Given the description of an element on the screen output the (x, y) to click on. 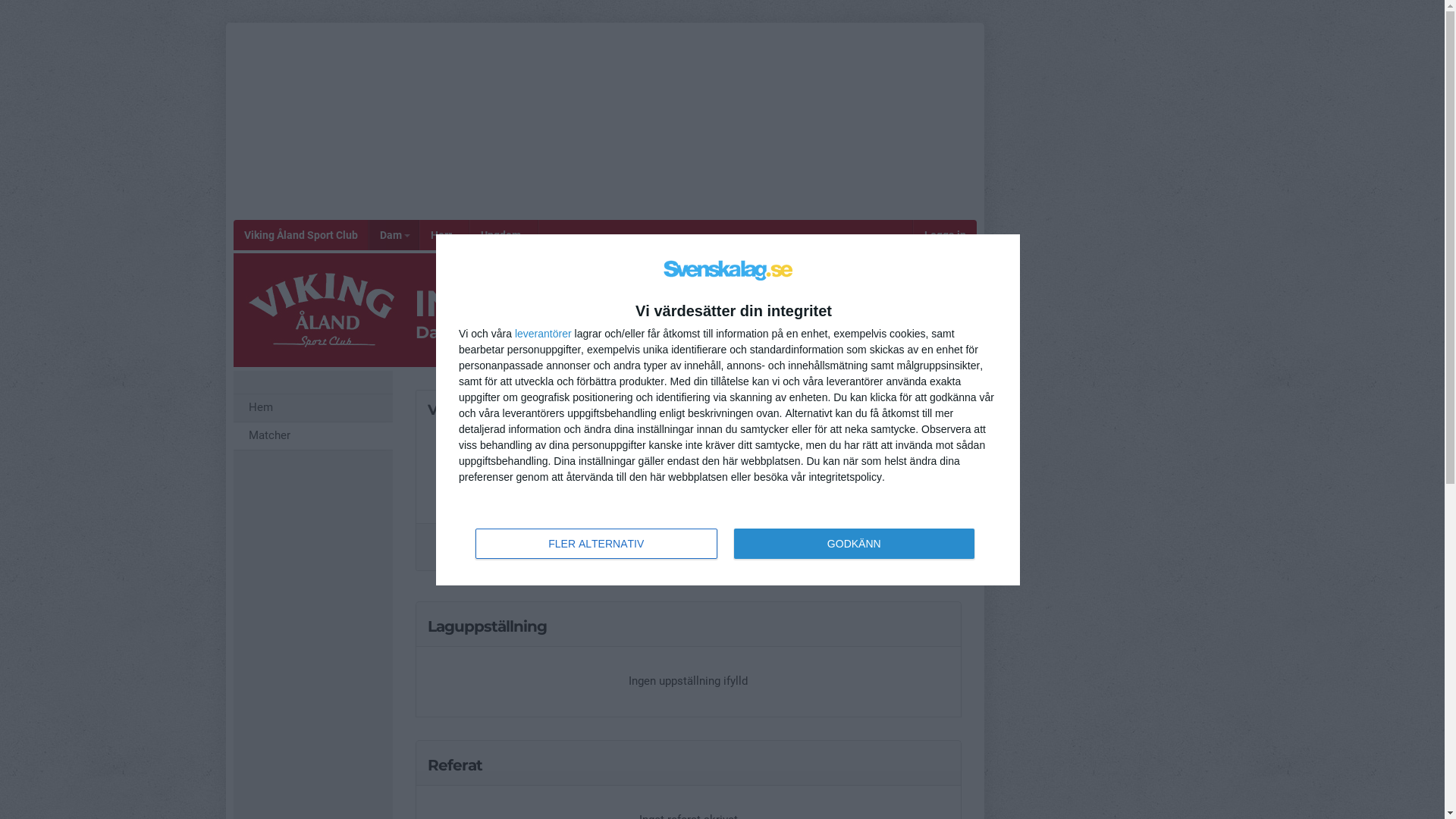
Hem Element type: text (312, 408)
Dam Element type: text (393, 234)
Matcher Element type: text (312, 436)
D3 Element type: text (687, 413)
Logga in Element type: text (944, 234)
FLER ALTERNATIV Element type: text (596, 542)
Herr Element type: text (443, 234)
Ungdom Element type: text (502, 234)
